Given the description of an element on the screen output the (x, y) to click on. 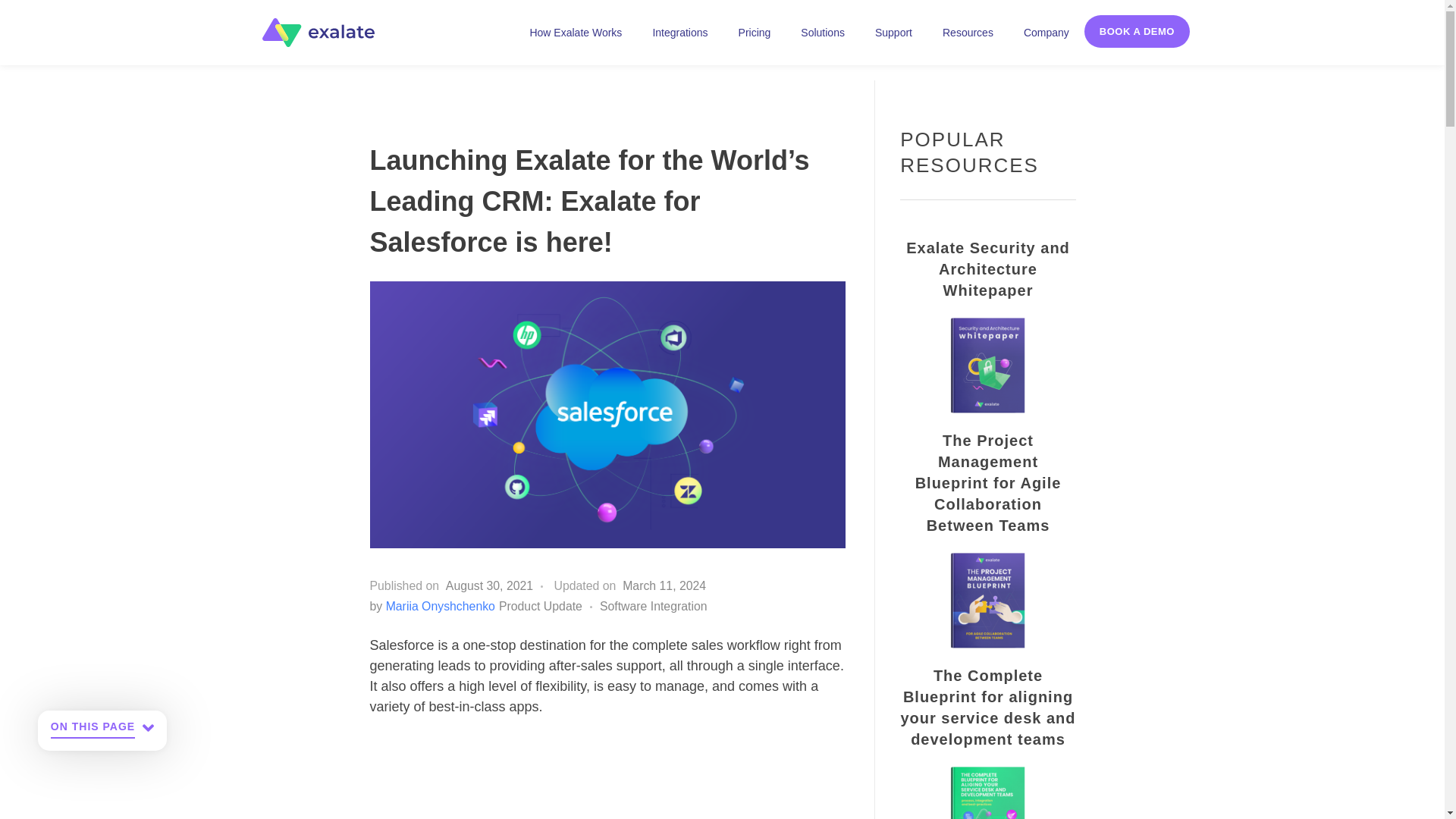
Pricing (754, 32)
Support (893, 32)
Company (1046, 32)
How Exalate Works (575, 32)
Integrations (679, 32)
View all posts in Software Integration (653, 606)
View all posts by Mariia Onyshchenko (440, 605)
View all posts in Product Update (549, 606)
Resources (968, 32)
Announcing the Exalate Connector for Salesforce (607, 775)
Solutions (823, 32)
